Given the description of an element on the screen output the (x, y) to click on. 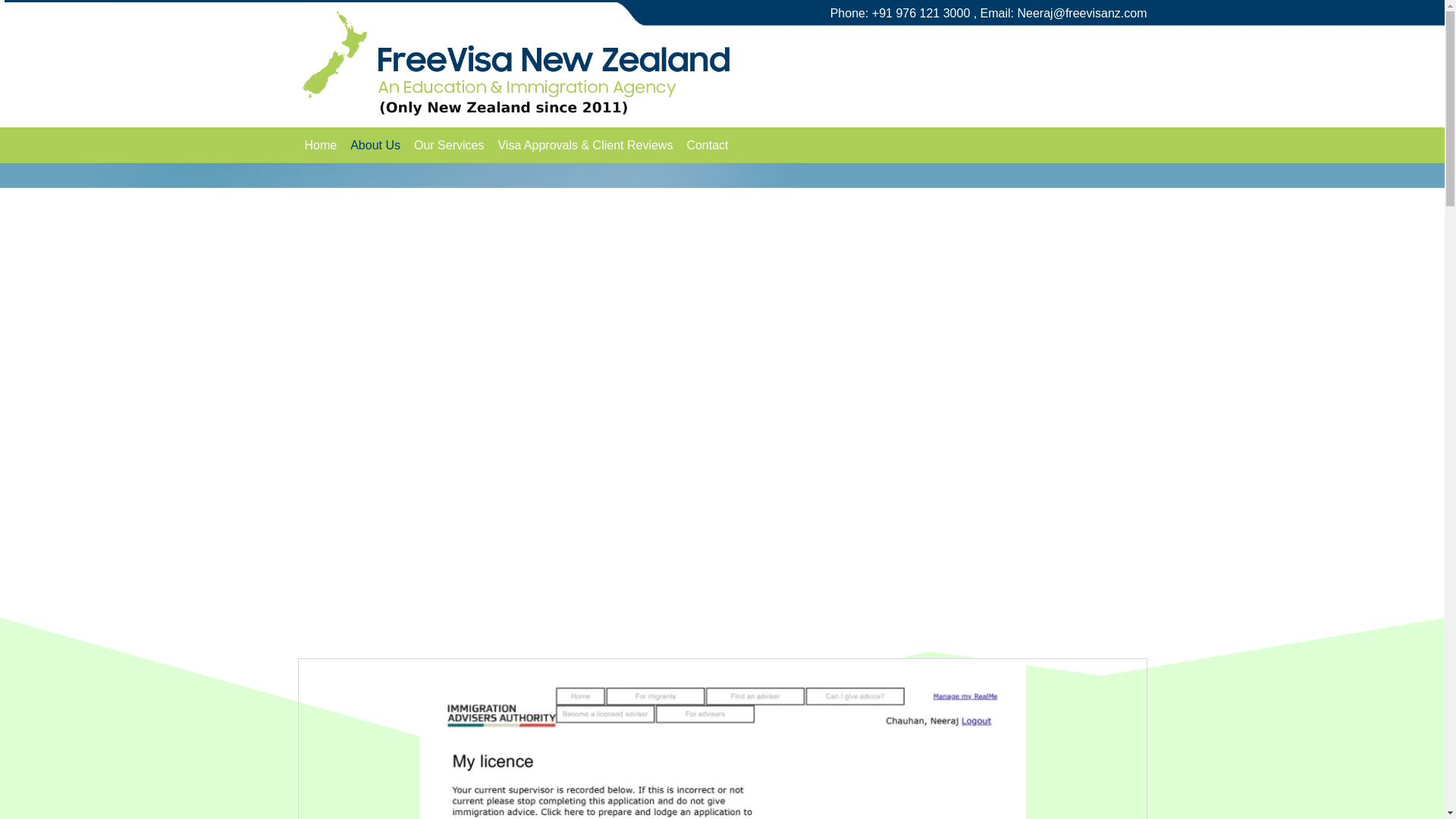
Home (320, 145)
About Us (375, 145)
Our Services (448, 145)
Contact (707, 145)
